Given the description of an element on the screen output the (x, y) to click on. 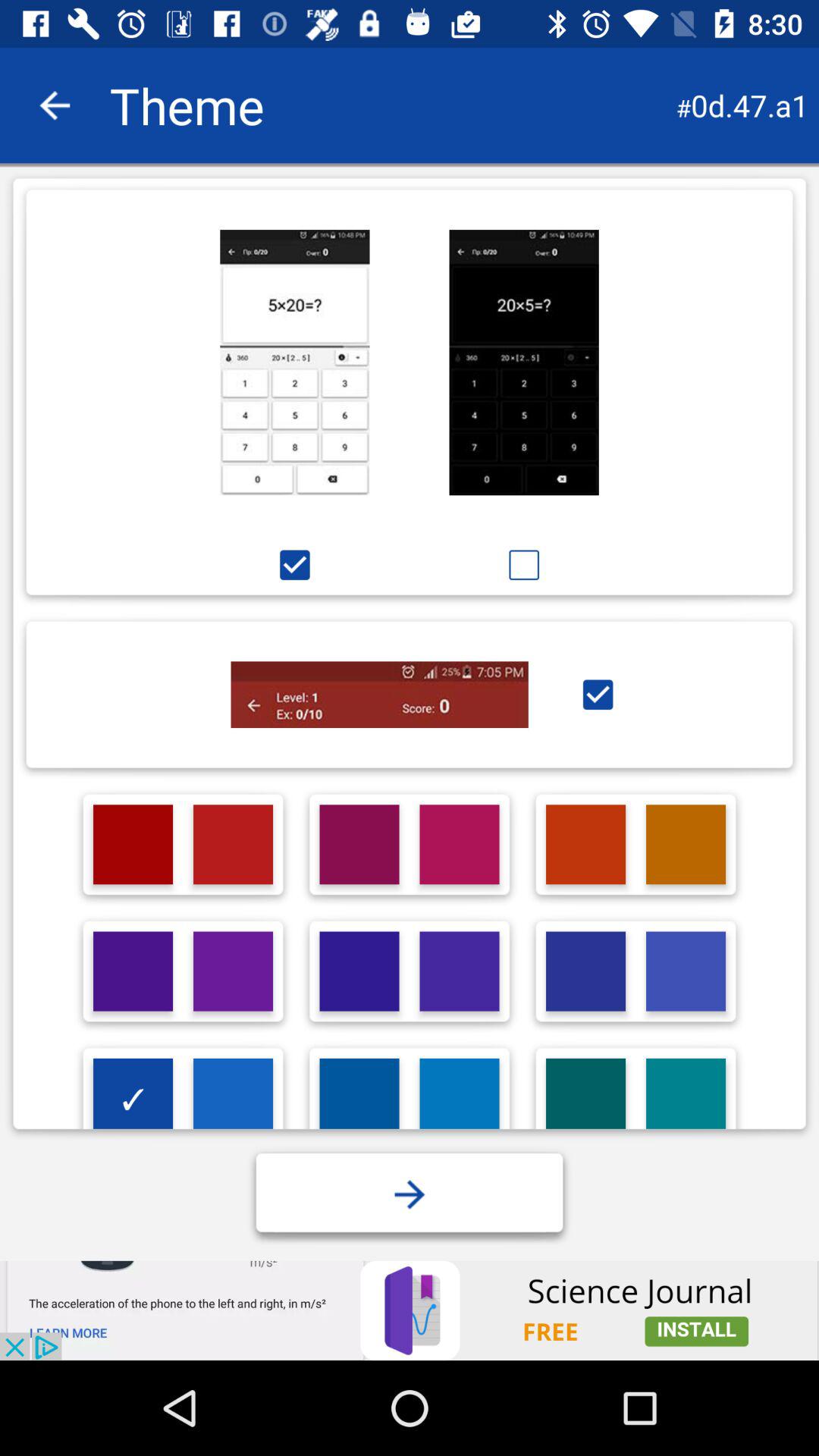
select theme (523, 362)
